Given the description of an element on the screen output the (x, y) to click on. 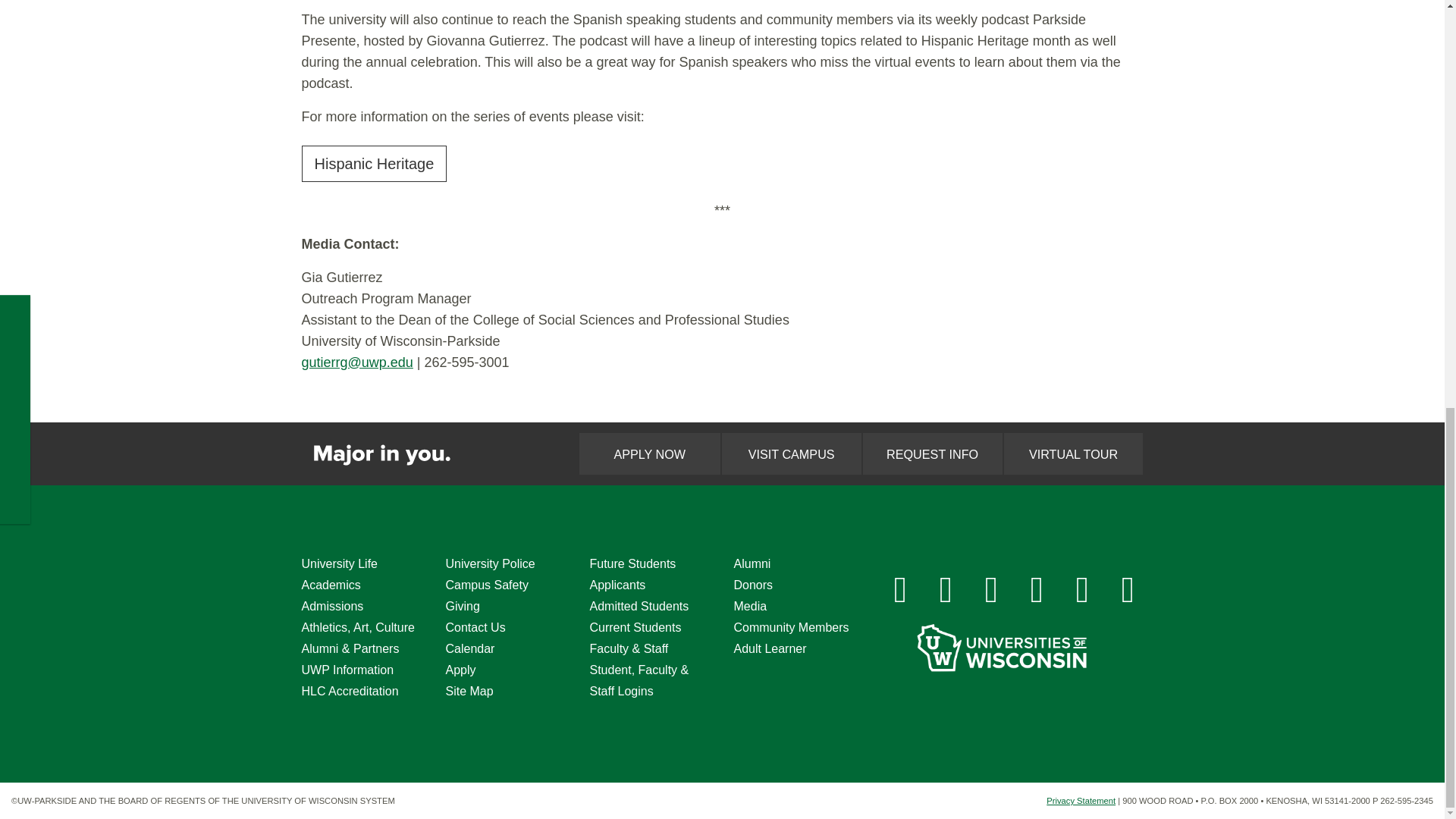
TikTok (1082, 589)
Facebook (900, 589)
Email Admissions (1128, 589)
X (991, 589)
LinkedIn (1036, 589)
Instagram (946, 589)
